Given the description of an element on the screen output the (x, y) to click on. 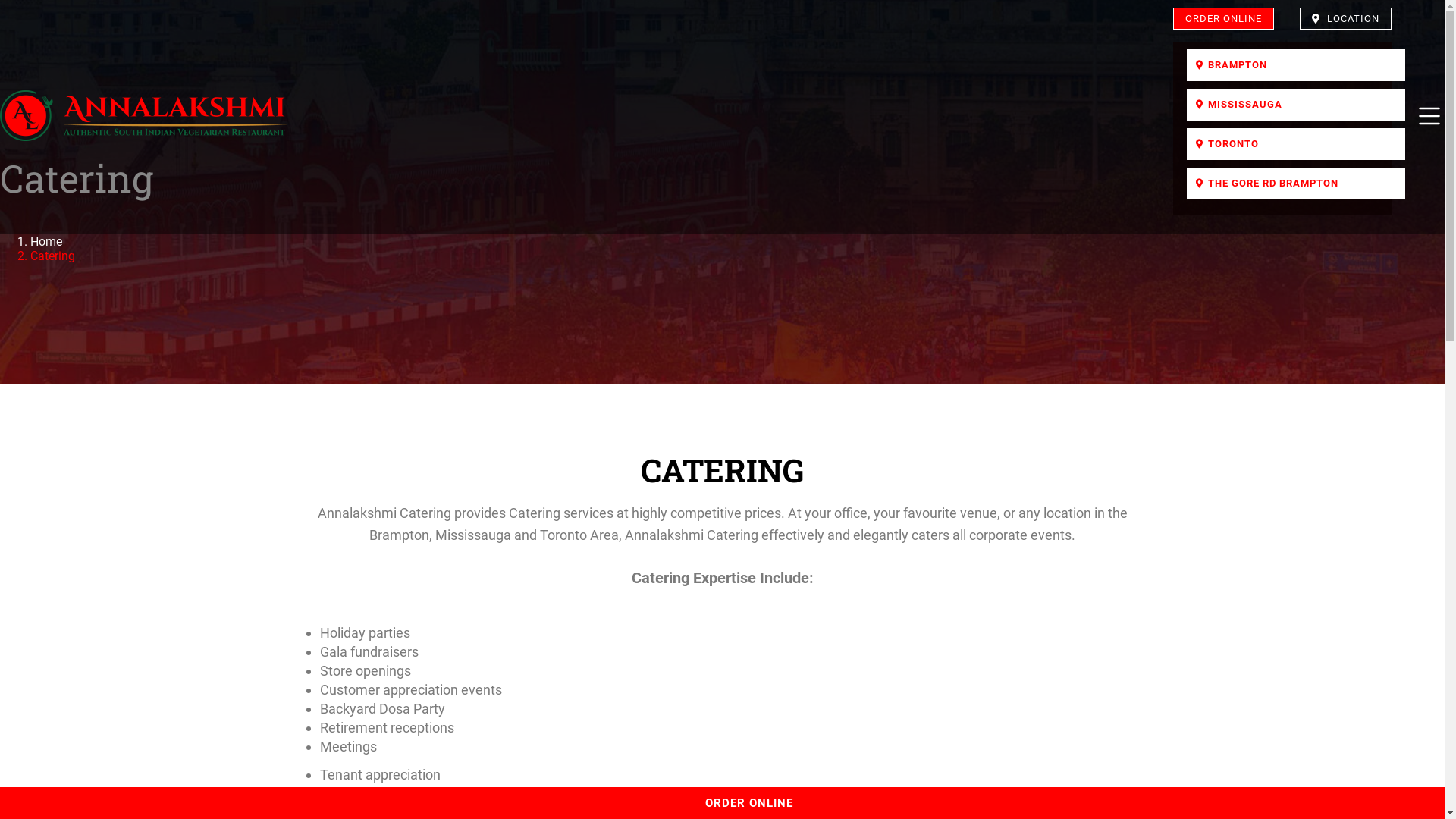
MISSISSAUGA Element type: text (1295, 104)
Home Element type: text (46, 241)
TORONTO Element type: text (1295, 144)
ORDER ONLINE Element type: text (1223, 18)
THE GORE RD BRAMPTON Element type: text (1295, 183)
BRAMPTON Element type: text (1295, 65)
